Given the description of an element on the screen output the (x, y) to click on. 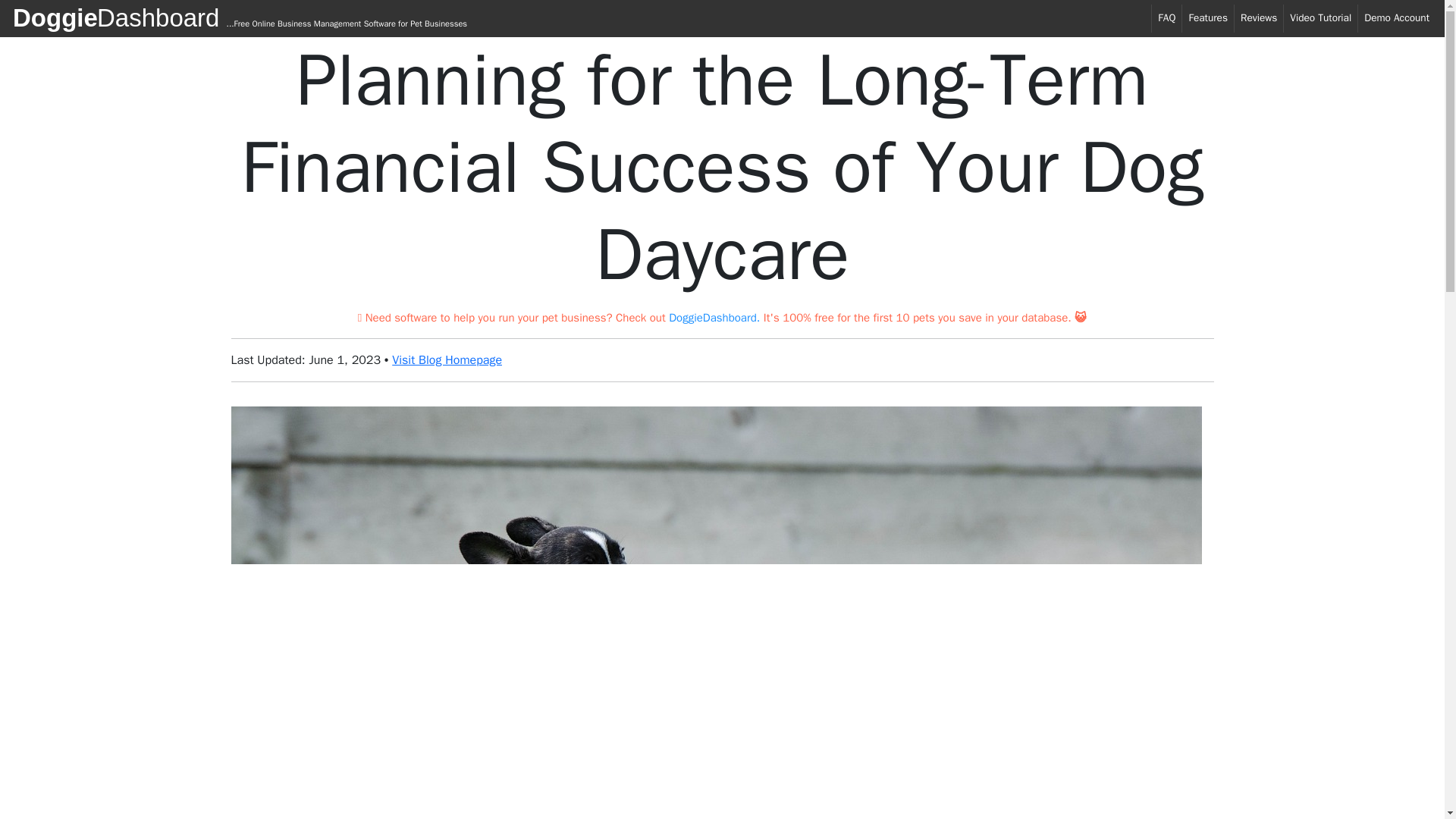
Video Tutorial (1320, 17)
Demo Account (1396, 17)
Features (1207, 17)
Visit Blog Homepage (446, 359)
Reviews (1258, 17)
FAQ (1165, 17)
